Given the description of an element on the screen output the (x, y) to click on. 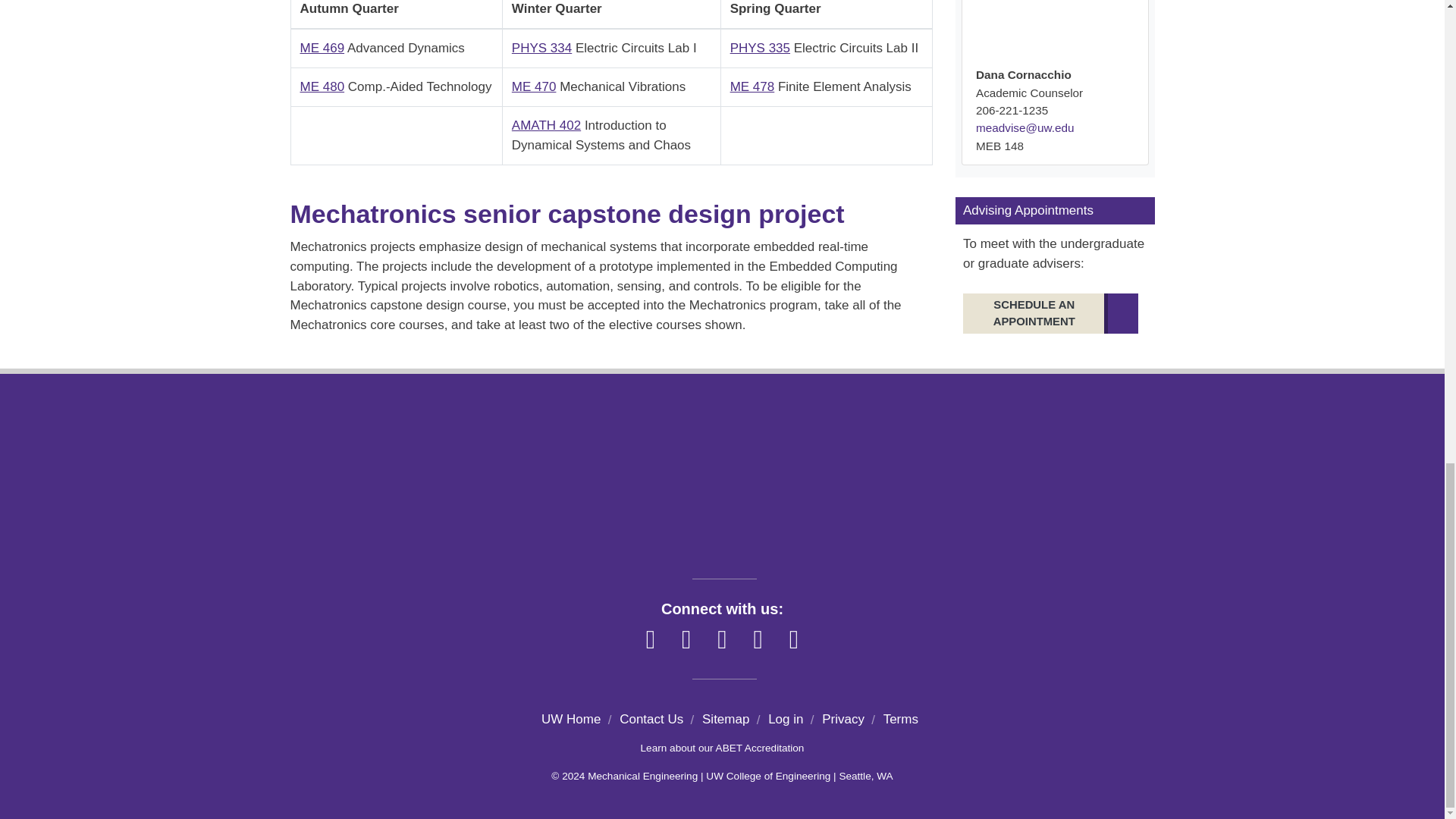
facebook (650, 639)
linkedin (722, 639)
instagram (686, 639)
youtube (793, 639)
twitter (757, 639)
